Given the description of an element on the screen output the (x, y) to click on. 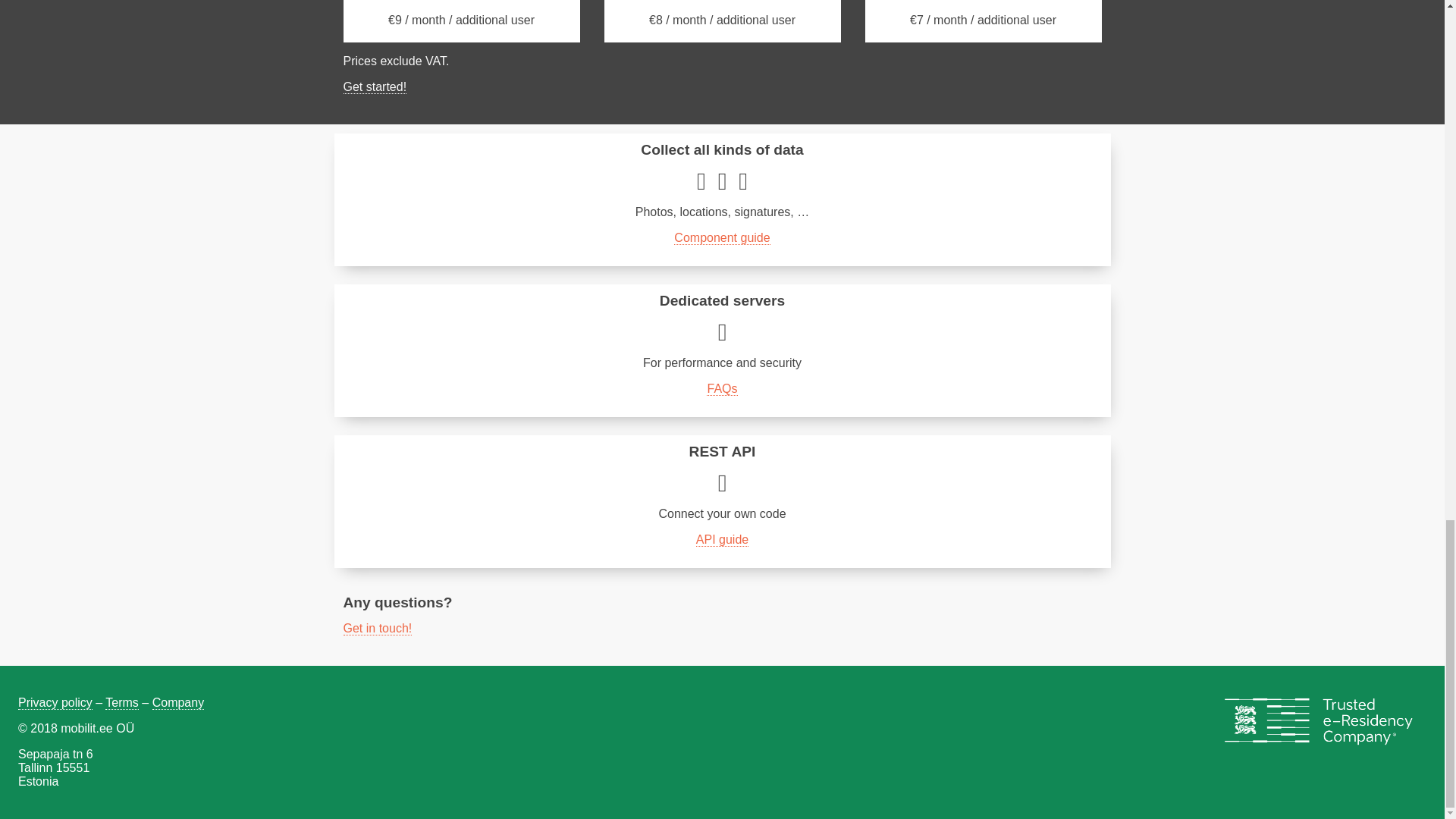
Privacy policy (55, 703)
API guide (721, 540)
Terms (121, 703)
Get in touch! (377, 628)
Company (177, 703)
FAQs (721, 388)
Component guide (722, 237)
Get started! (374, 87)
